Given the description of an element on the screen output the (x, y) to click on. 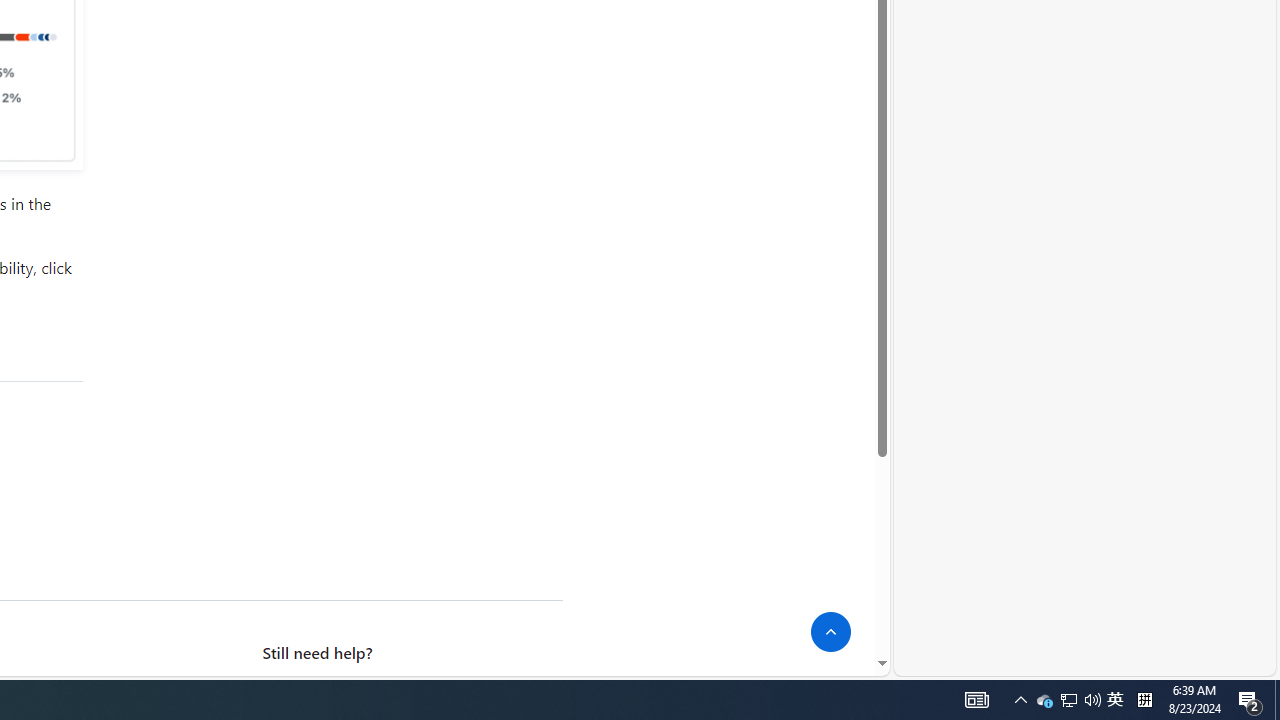
Scroll to top (831, 632)
Scroll to top (831, 632)
